Given the description of an element on the screen output the (x, y) to click on. 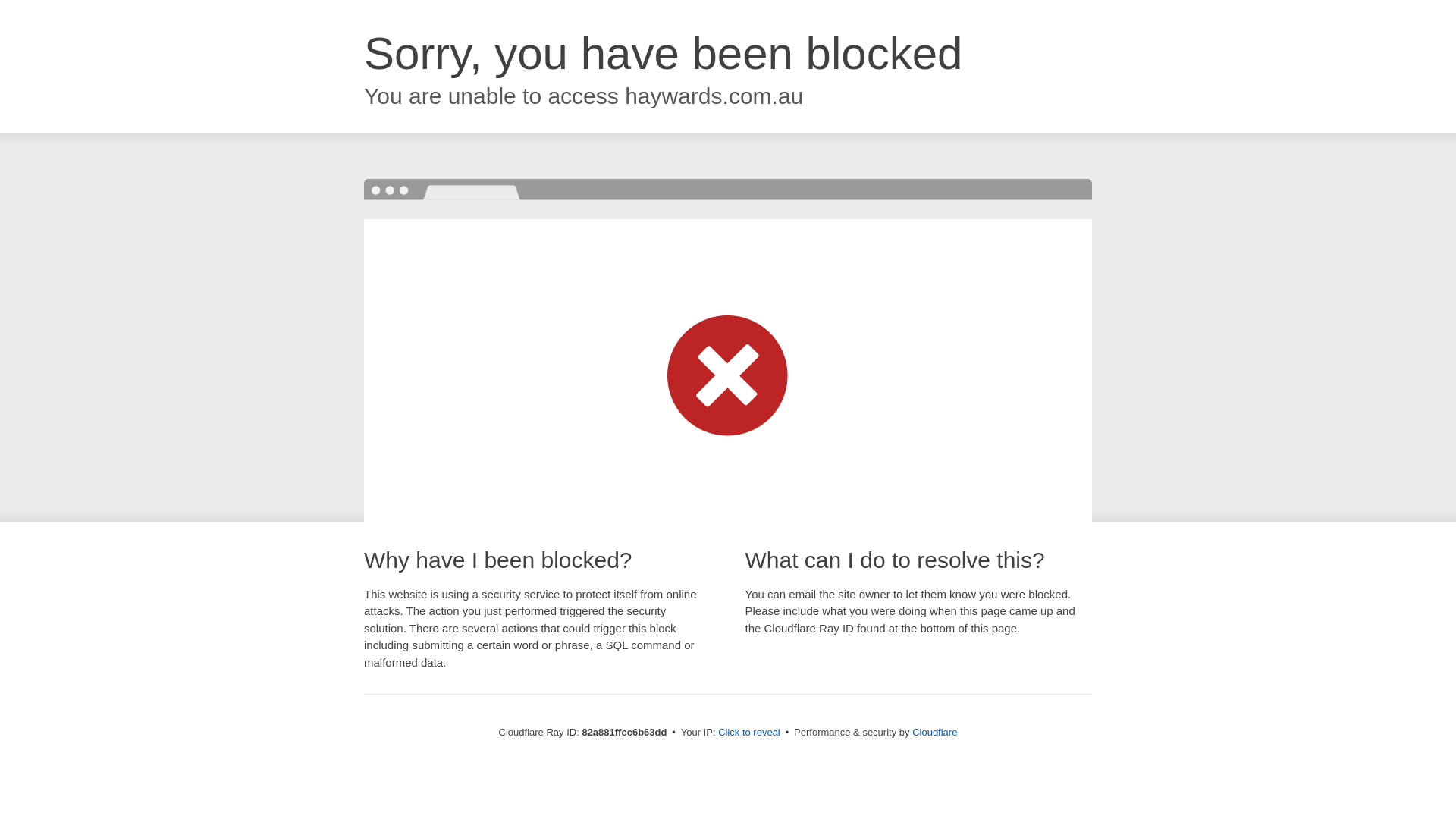
Cloudflare Element type: text (934, 731)
Click to reveal Element type: text (749, 732)
